Given the description of an element on the screen output the (x, y) to click on. 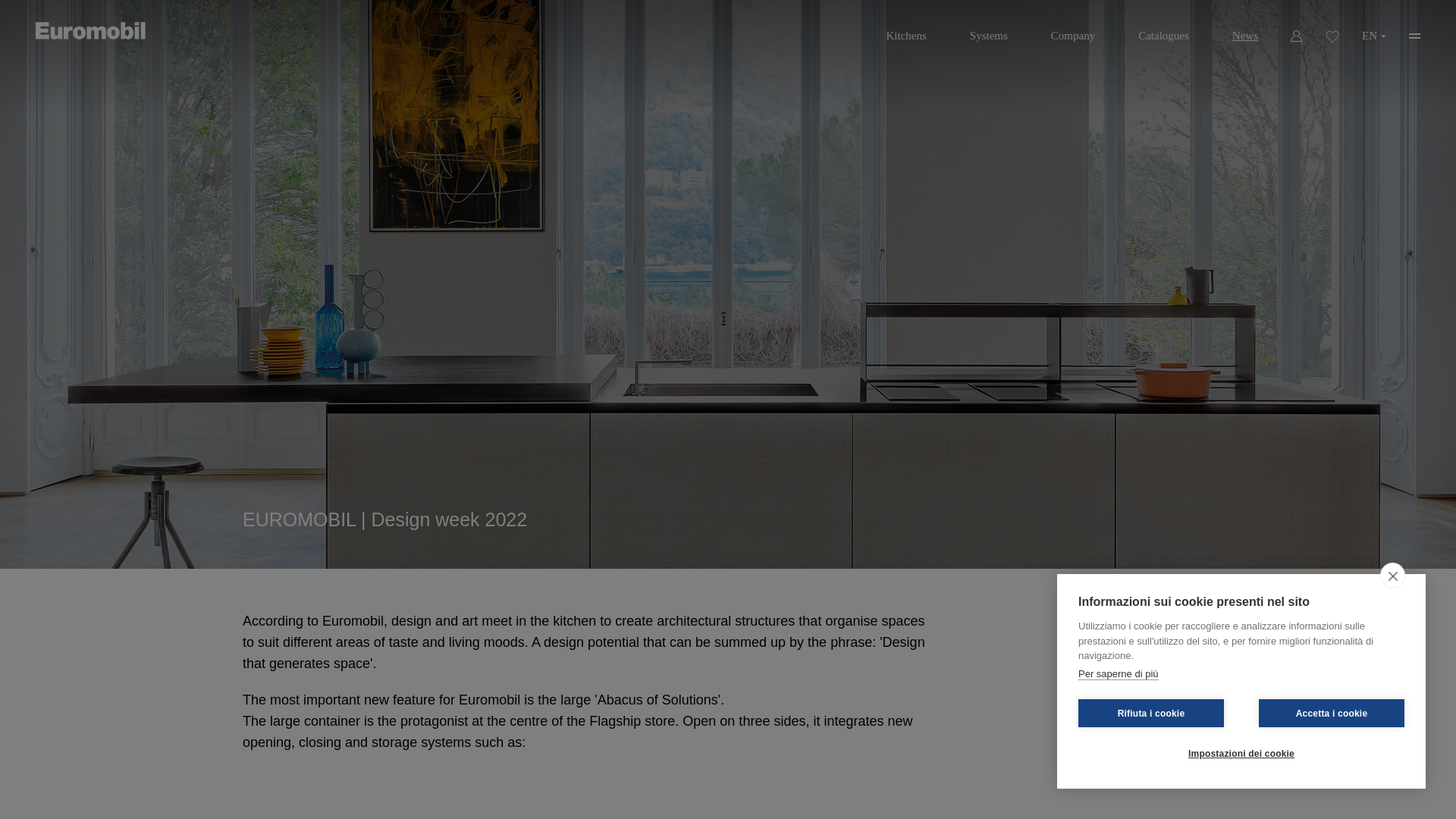
Systems (988, 30)
Company (1072, 30)
Kitchens (906, 30)
Catalogues (1162, 30)
